Given the description of an element on the screen output the (x, y) to click on. 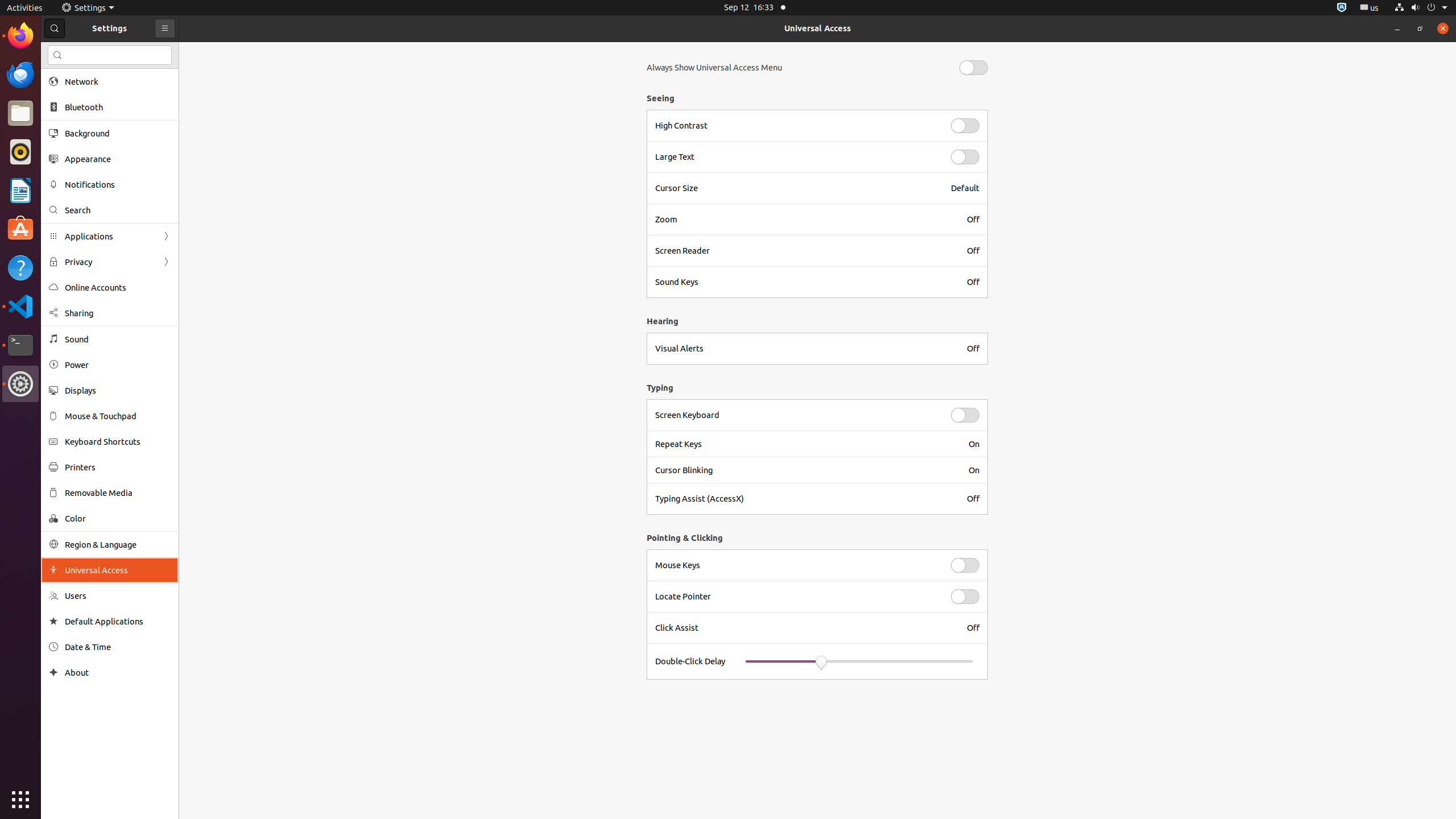
Close Element type: push-button (1442, 27)
Settings Element type: menu (87, 7)
Terminal Element type: push-button (20, 344)
Universal Access Element type: label (817, 27)
